Given the description of an element on the screen output the (x, y) to click on. 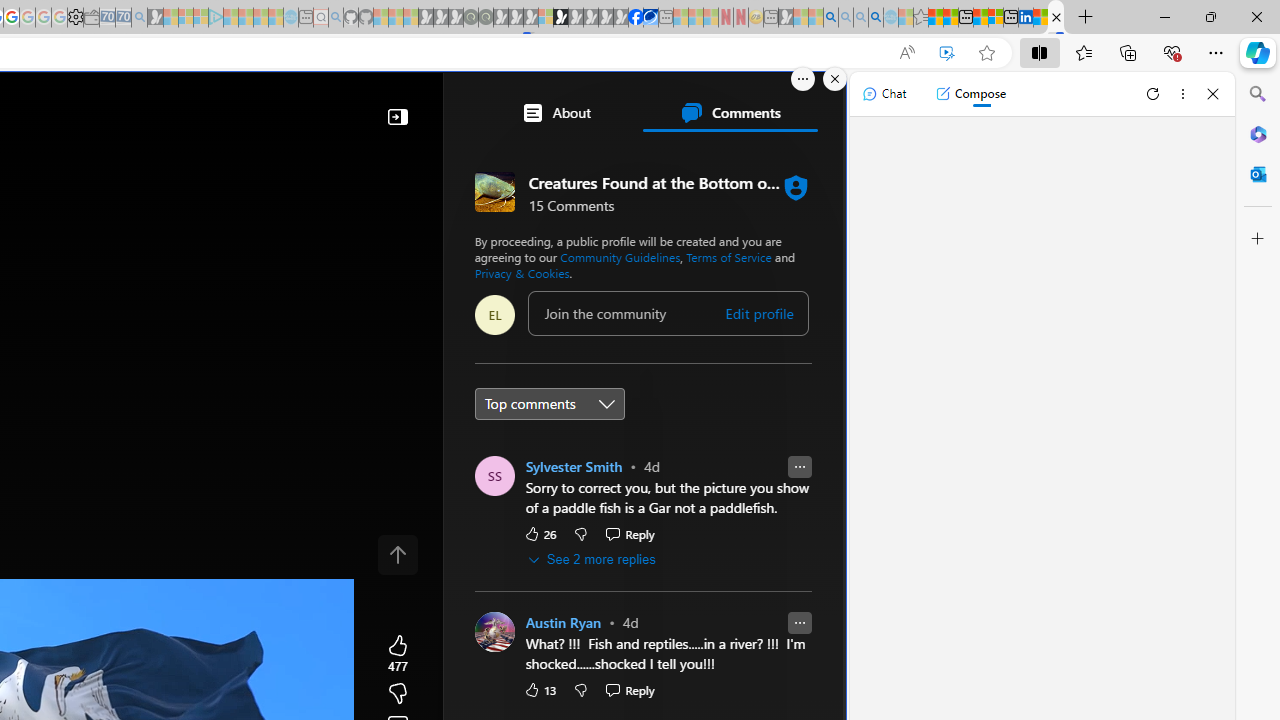
Sort comments by (548, 403)
Google Chrome Internet Browser Download - Search Images (876, 17)
About (555, 111)
Reply Reply Comment (629, 690)
477 Like (397, 653)
